Given the description of an element on the screen output the (x, y) to click on. 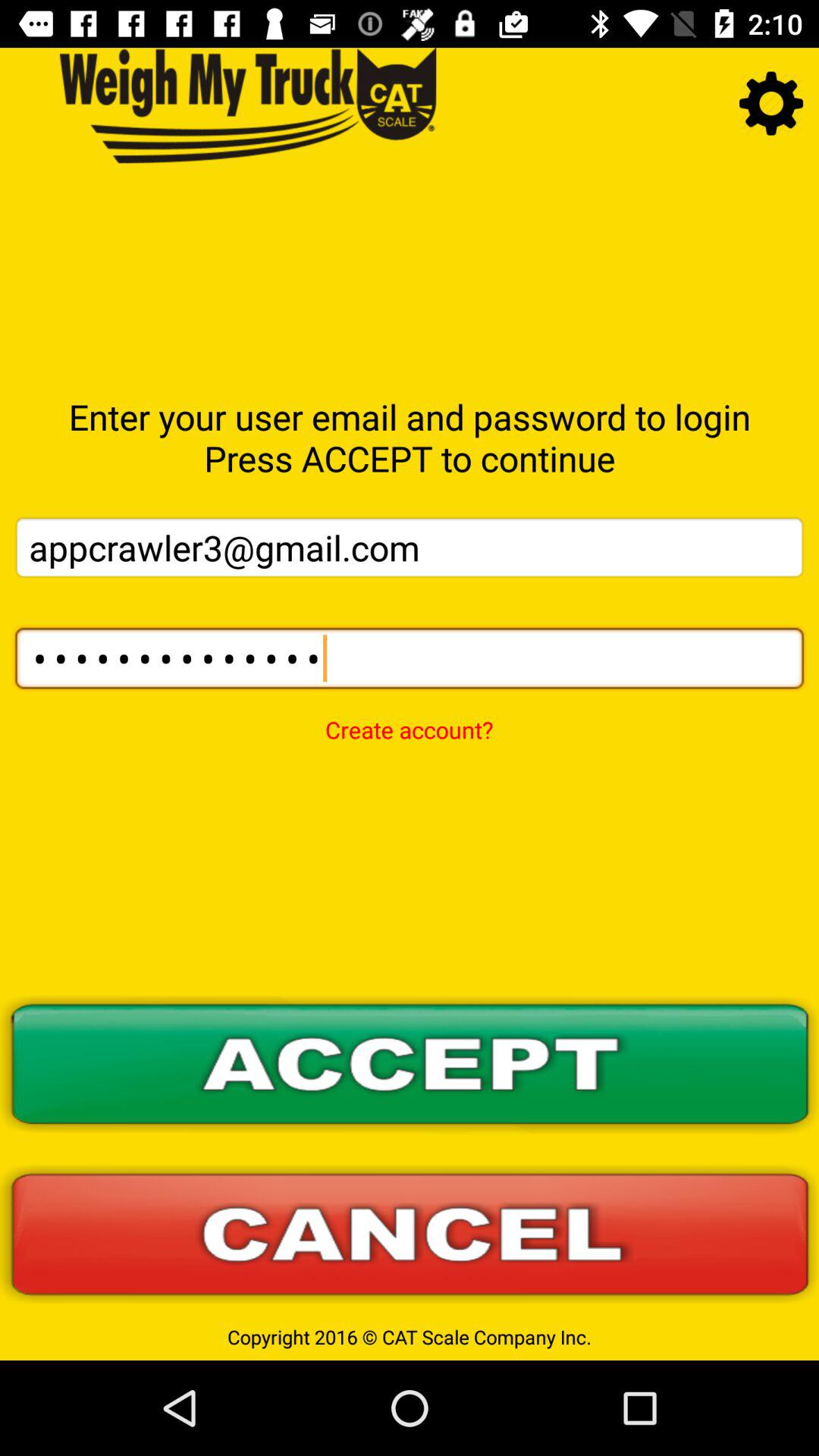
click icon above the create account? (409, 657)
